Given the description of an element on the screen output the (x, y) to click on. 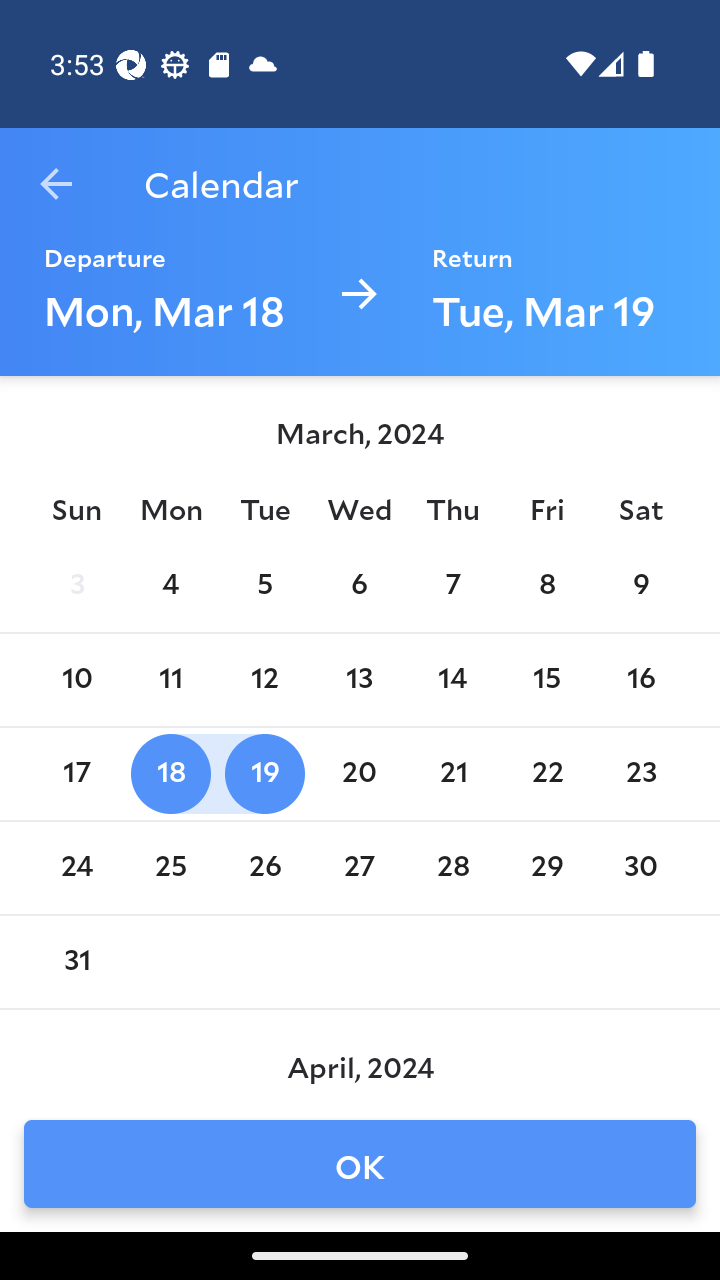
Navigate up (56, 184)
3 (76, 585)
4 (170, 585)
5 (264, 585)
6 (358, 585)
7 (453, 585)
8 (546, 585)
9 (641, 585)
10 (76, 679)
11 (170, 679)
12 (264, 679)
13 (358, 679)
14 (453, 679)
15 (546, 679)
16 (641, 679)
17 (76, 773)
18 (170, 773)
19 (264, 773)
20 (358, 773)
21 (453, 773)
22 (546, 773)
23 (641, 773)
24 (76, 867)
25 (170, 867)
26 (264, 867)
27 (358, 867)
28 (453, 867)
29 (546, 867)
30 (641, 867)
31 (76, 961)
OK (359, 1164)
